Given the description of an element on the screen output the (x, y) to click on. 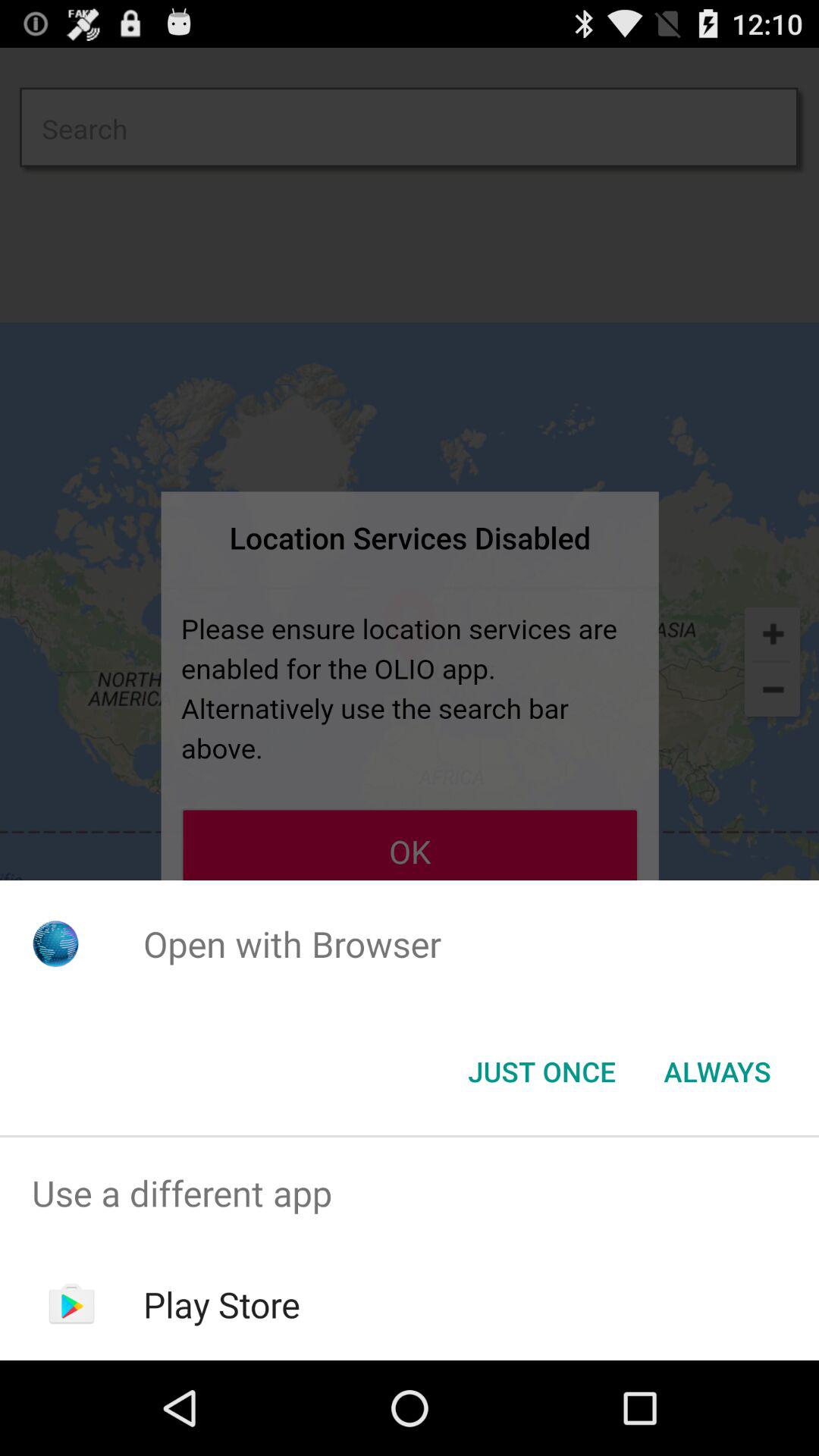
open icon below the use a different app (221, 1304)
